Given the description of an element on the screen output the (x, y) to click on. 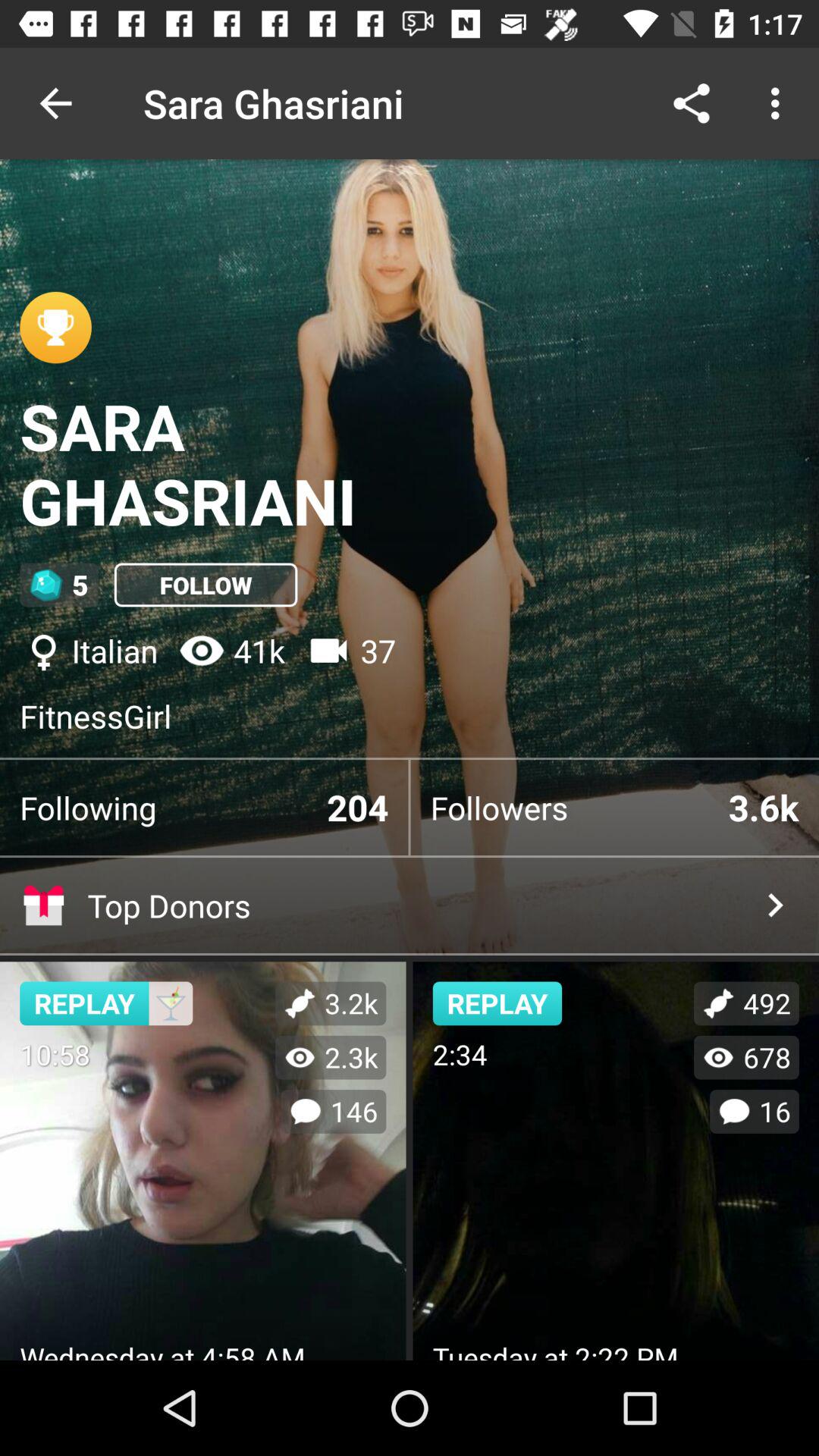
flip until the follow icon (205, 584)
